Given the description of an element on the screen output the (x, y) to click on. 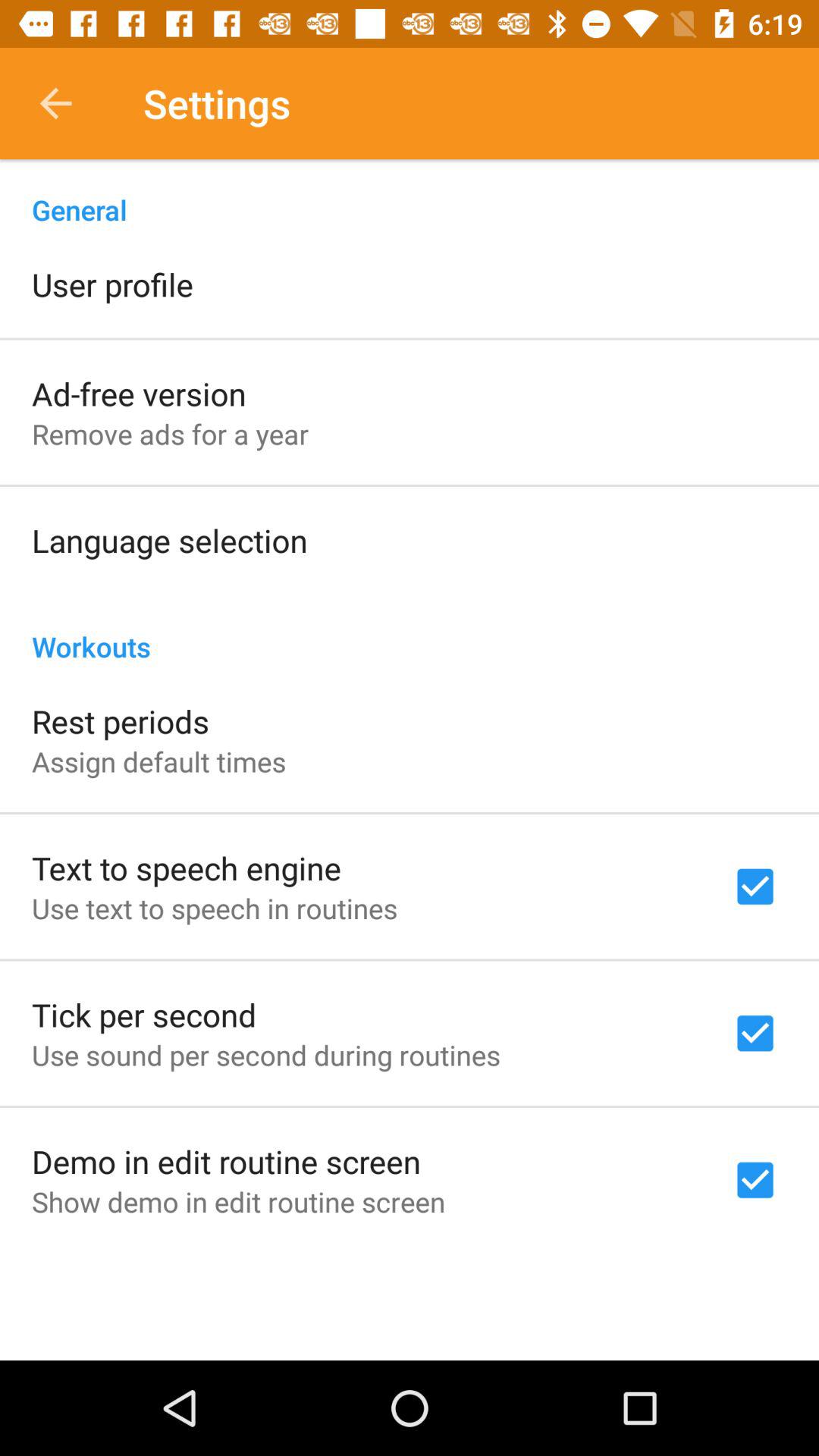
choose the item above the text to speech icon (158, 761)
